Given the description of an element on the screen output the (x, y) to click on. 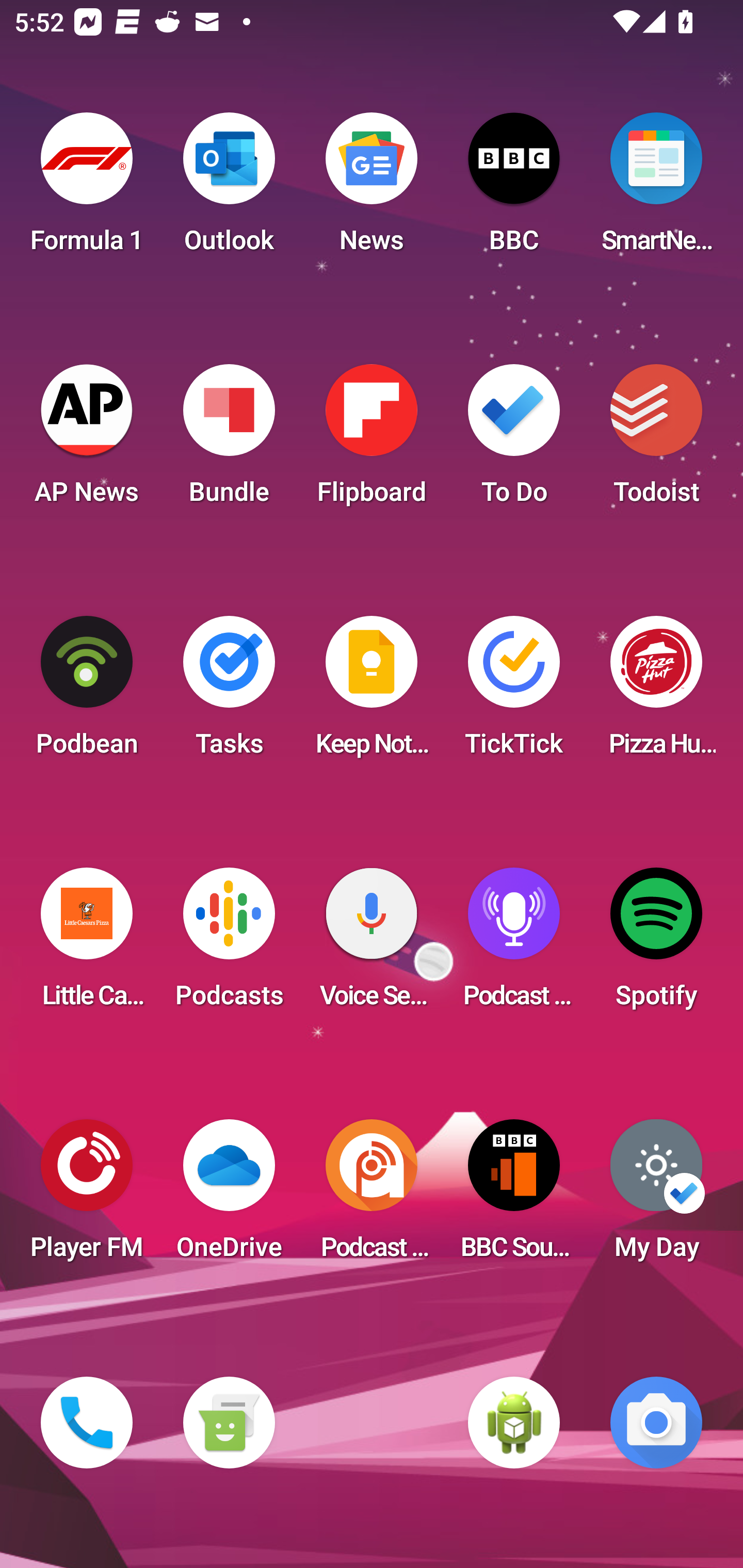
Formula 1 (86, 188)
Outlook (228, 188)
News (371, 188)
BBC (513, 188)
SmartNews (656, 188)
AP News (86, 440)
Bundle (228, 440)
Flipboard (371, 440)
To Do (513, 440)
Todoist (656, 440)
Podbean (86, 692)
Tasks (228, 692)
Keep Notes (371, 692)
TickTick (513, 692)
Pizza Hut HK & Macau (656, 692)
Little Caesars Pizza (86, 943)
Podcasts (228, 943)
Voice Search (371, 943)
Podcast Player (513, 943)
Spotify (656, 943)
Player FM (86, 1195)
OneDrive (228, 1195)
Podcast Addict (371, 1195)
BBC Sounds (513, 1195)
My Day (656, 1195)
Phone (86, 1422)
Messaging (228, 1422)
WebView Browser Tester (513, 1422)
Camera (656, 1422)
